Given the description of an element on the screen output the (x, y) to click on. 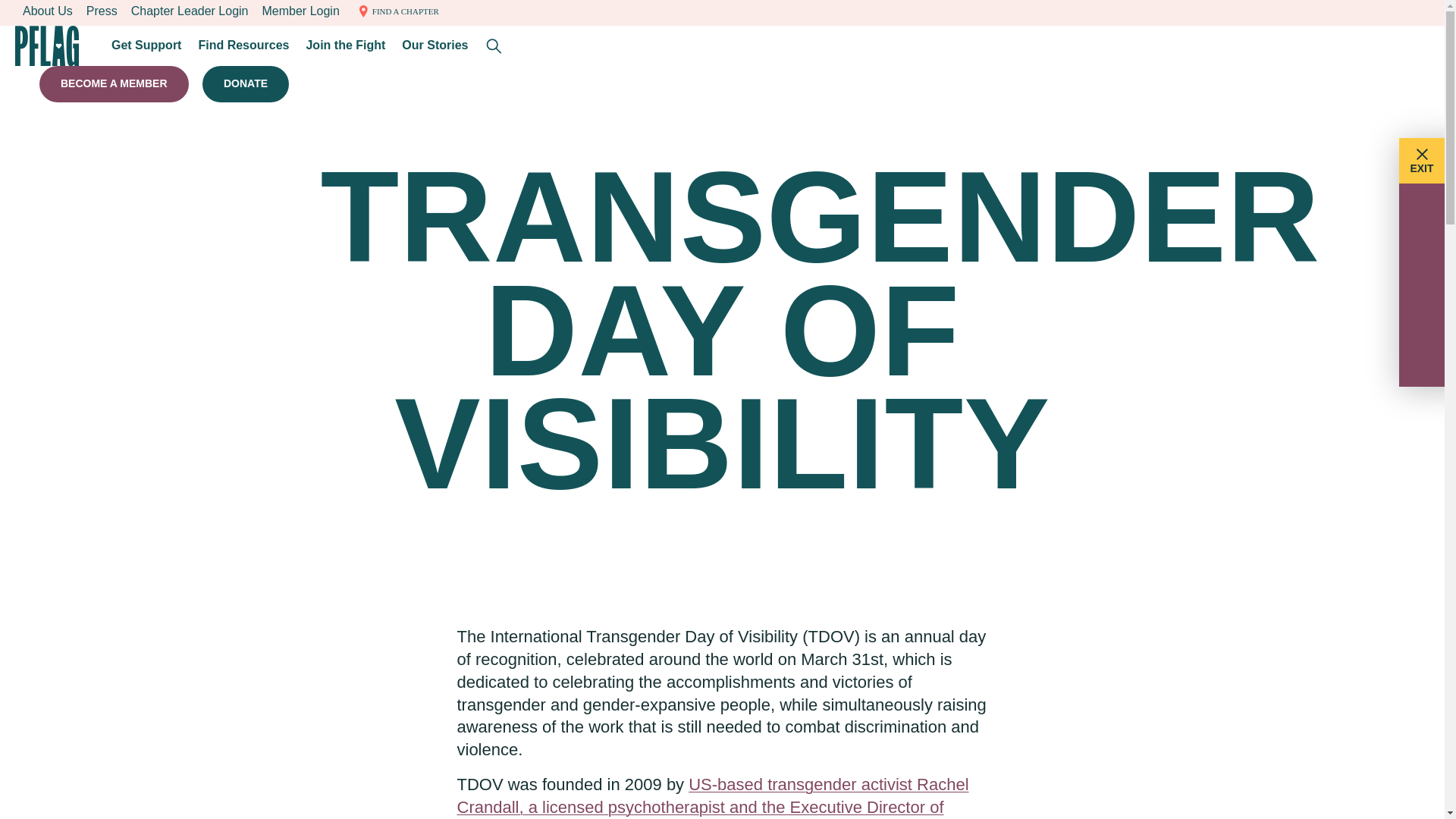
Press (101, 11)
EXIT (1421, 160)
PFLAG (47, 45)
Chapter Leader Login (189, 11)
DONATE (245, 84)
About Us (47, 11)
FIND A CHAPTER (396, 11)
Search (494, 45)
Member Login (301, 11)
Get Support (146, 45)
Join the Fight (345, 45)
Find Resources (243, 45)
BECOME A MEMBER (114, 84)
Our Stories (435, 45)
